Given the description of an element on the screen output the (x, y) to click on. 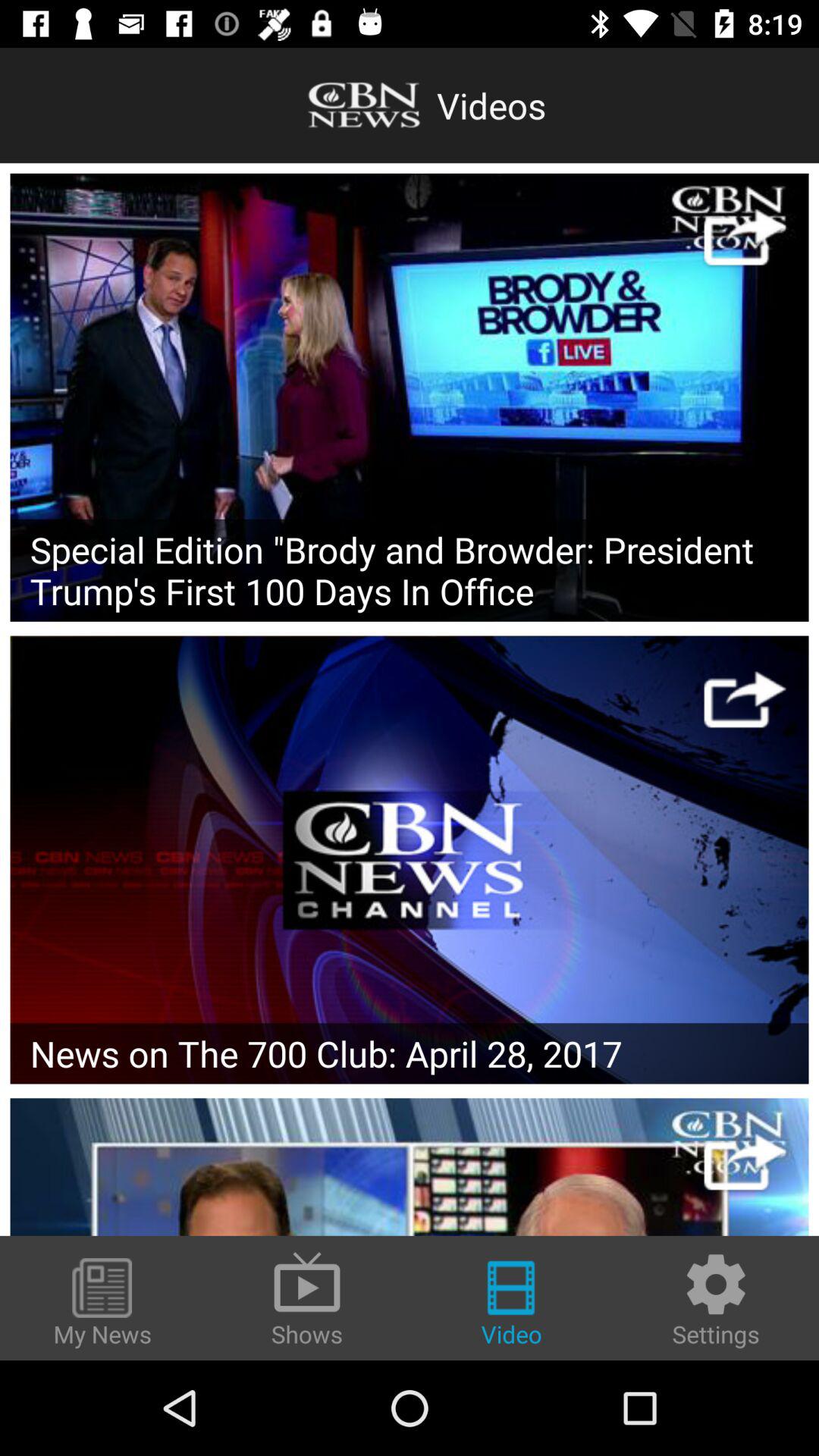
go to cbn website (744, 236)
